Given the description of an element on the screen output the (x, y) to click on. 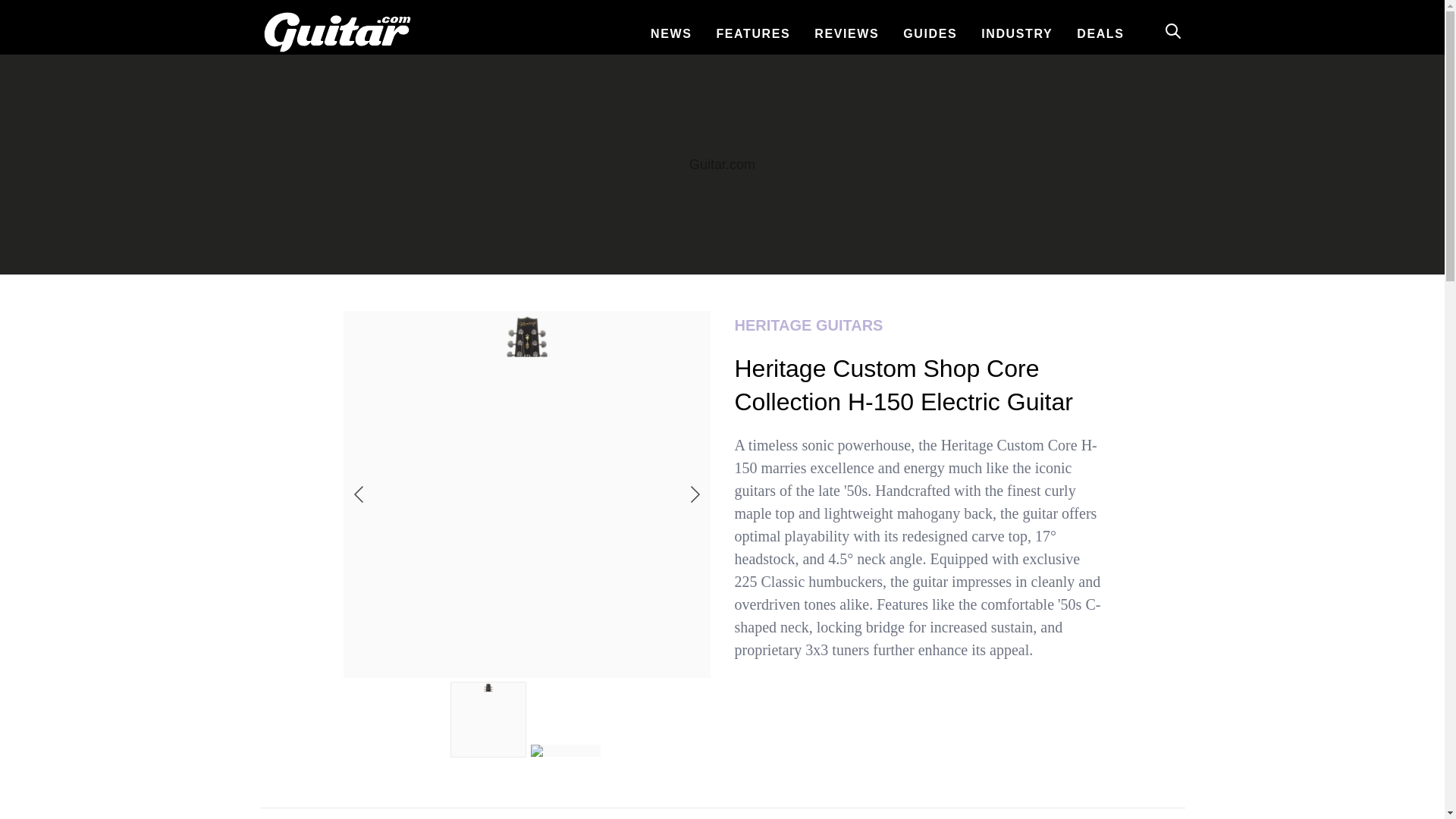
Heritage Guitars (916, 325)
FEATURES (753, 33)
NEWS (671, 33)
INDUSTRY (1016, 33)
DEALS (1099, 33)
HERITAGE GUITARS (916, 325)
GUIDES (929, 33)
REVIEWS (846, 33)
